Given the description of an element on the screen output the (x, y) to click on. 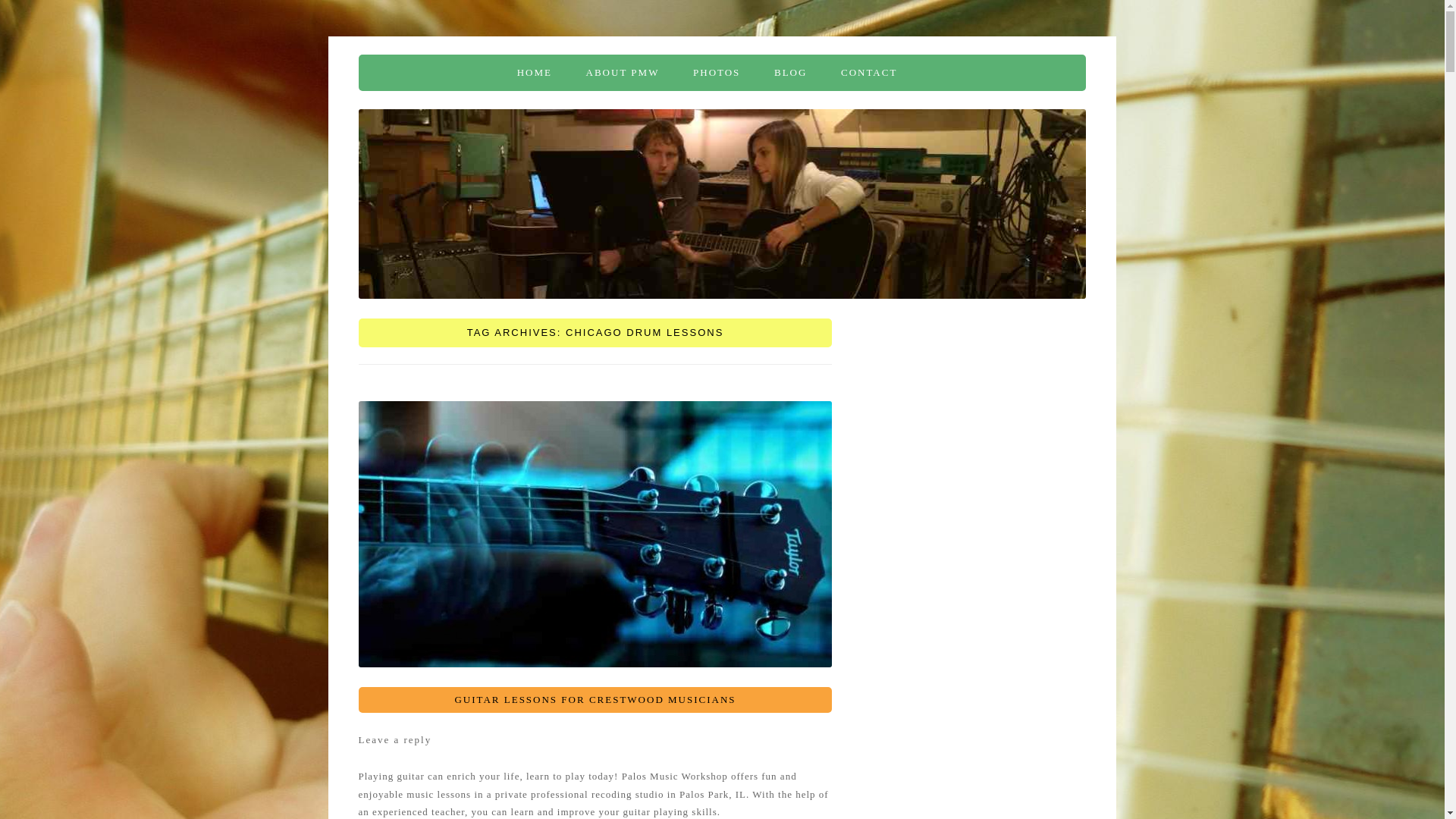
Leave a reply (394, 739)
ABOUT PMW (622, 72)
BLOG (790, 72)
PHOTOS (716, 72)
CONTACT (868, 72)
Palos Music Workshop (465, 72)
HOME (533, 72)
GUITAR LESSONS FOR CRESTWOOD MUSICIANS (594, 699)
